Given the description of an element on the screen output the (x, y) to click on. 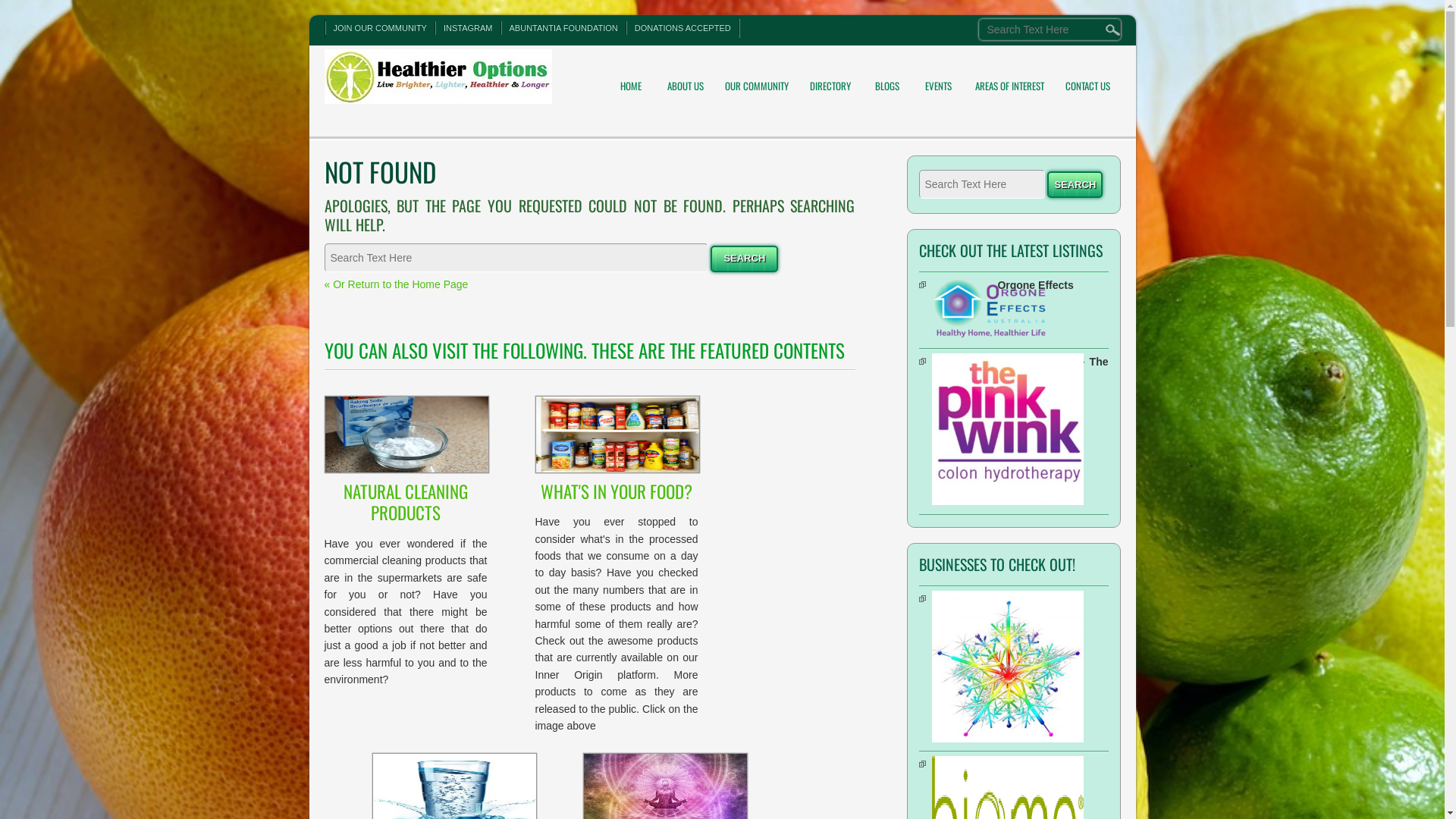
DIRECTORY Element type: text (829, 75)
DONATIONS ACCEPTED Element type: text (682, 27)
Orgone Effects Element type: text (1052, 284)
NATURAL CLEANING PRODUCTS Element type: text (405, 461)
Healthier Water Element type: text (1052, 598)
JOIN OUR COMMUNITY Element type: text (379, 27)
CONTACT US Element type: text (1087, 75)
BLOGS Element type: text (886, 75)
Search Element type: text (744, 258)
Search Element type: text (1074, 184)
INSTAGRAM Element type: text (468, 27)
WHAT'S IN YOUR FOOD? Element type: text (616, 450)
OUR COMMUNITY Element type: text (755, 75)
AREAS OF INTEREST Element type: text (1008, 75)
ABUNTANTIA FOUNDATION Element type: text (563, 27)
HOME Element type: text (629, 75)
Search Element type: text (33, 13)
ABOUT US Element type: text (684, 75)
EVENTS Element type: text (937, 75)
Biome Element type: text (1052, 764)
